Given the description of an element on the screen output the (x, y) to click on. 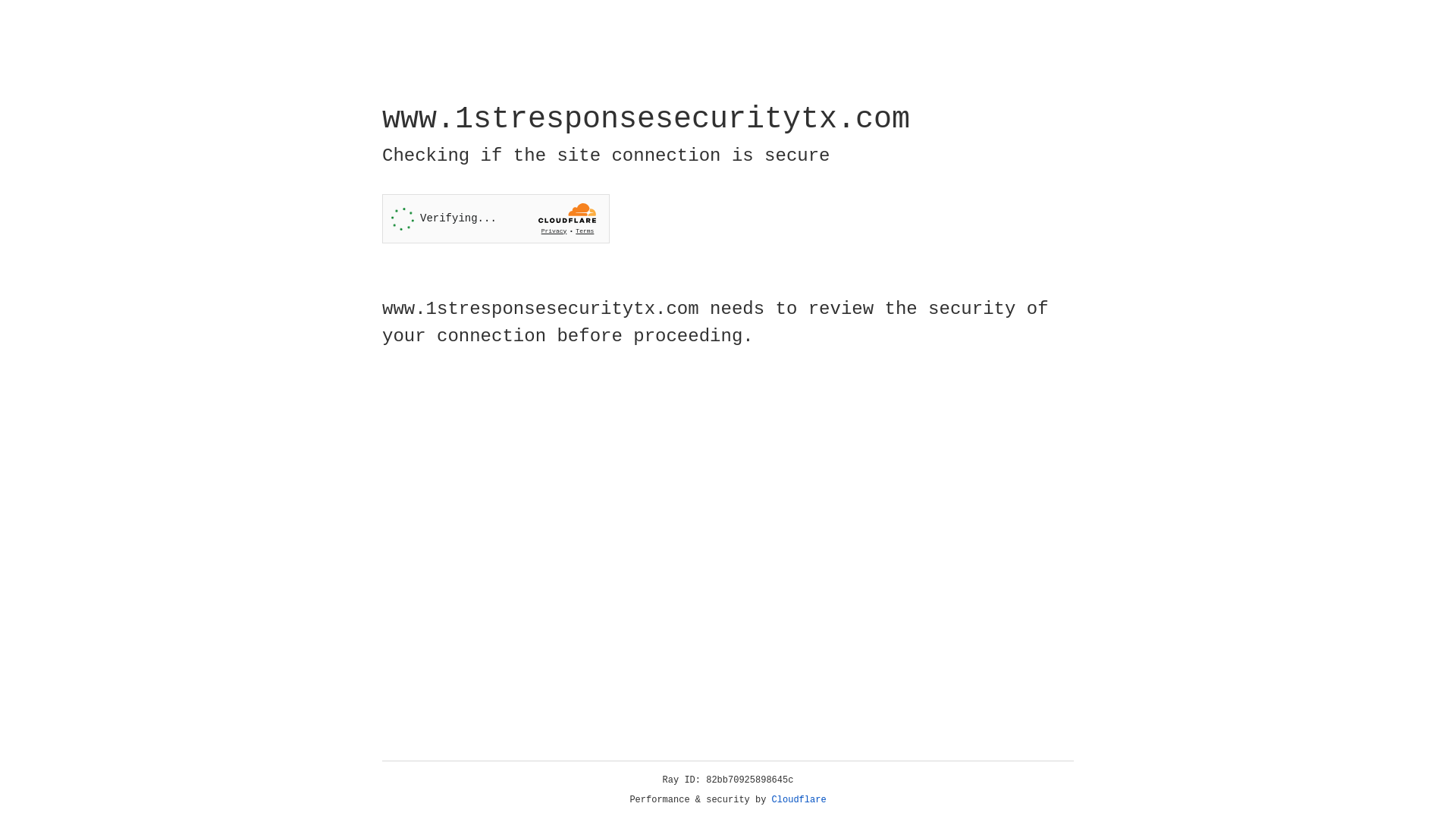
Widget containing a Cloudflare security challenge Element type: hover (495, 218)
Cloudflare Element type: text (798, 799)
